Given the description of an element on the screen output the (x, y) to click on. 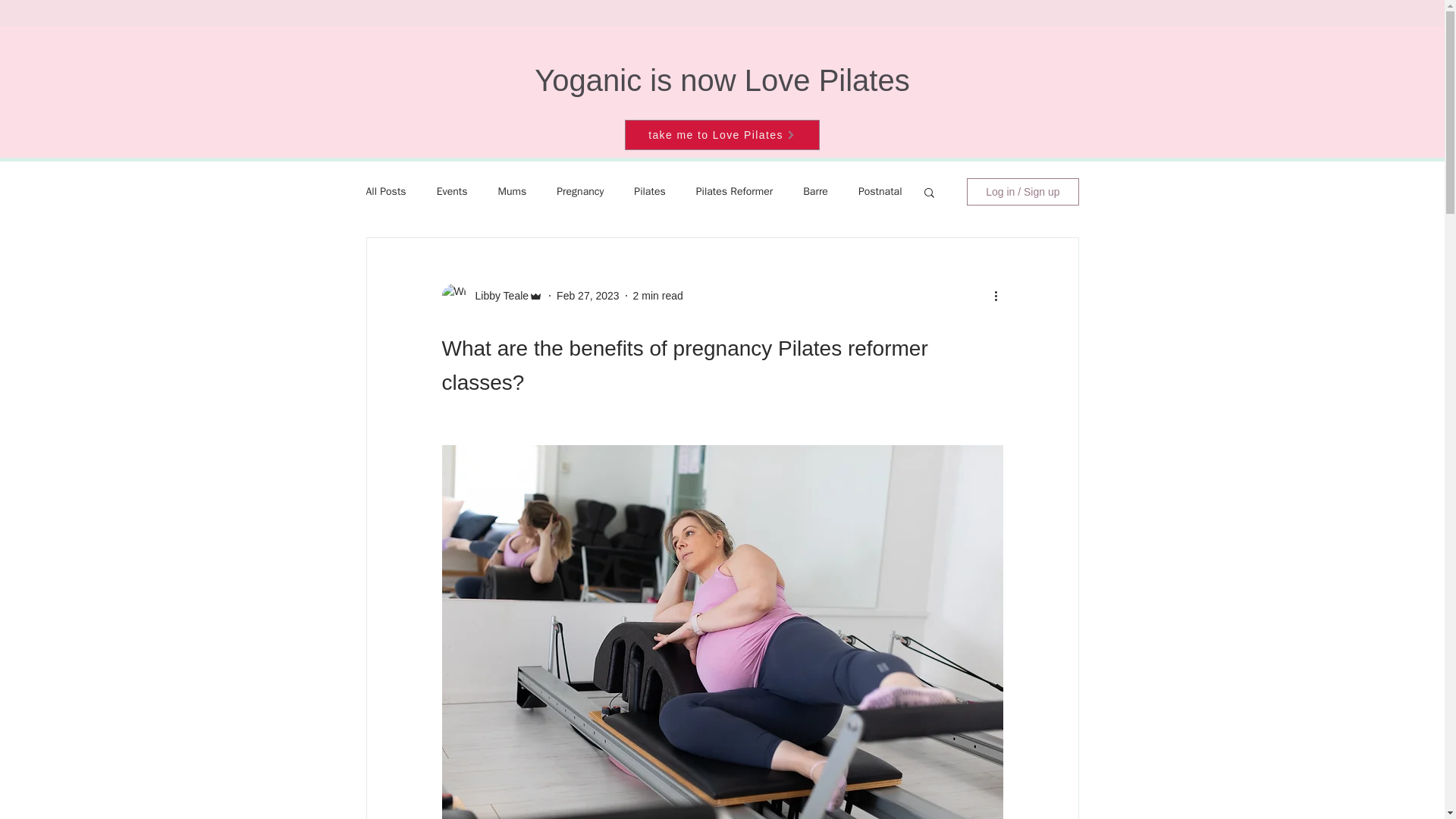
Mums (511, 192)
Pregnancy (580, 192)
Barre (815, 192)
Postnatal (880, 192)
All Posts (385, 192)
2 min read (657, 295)
Pilates (649, 192)
take me to Love Pilates (721, 134)
Feb 27, 2023 (588, 295)
Libby Teale (496, 295)
Pilates Reformer (734, 192)
Events (451, 192)
